Given the description of an element on the screen output the (x, y) to click on. 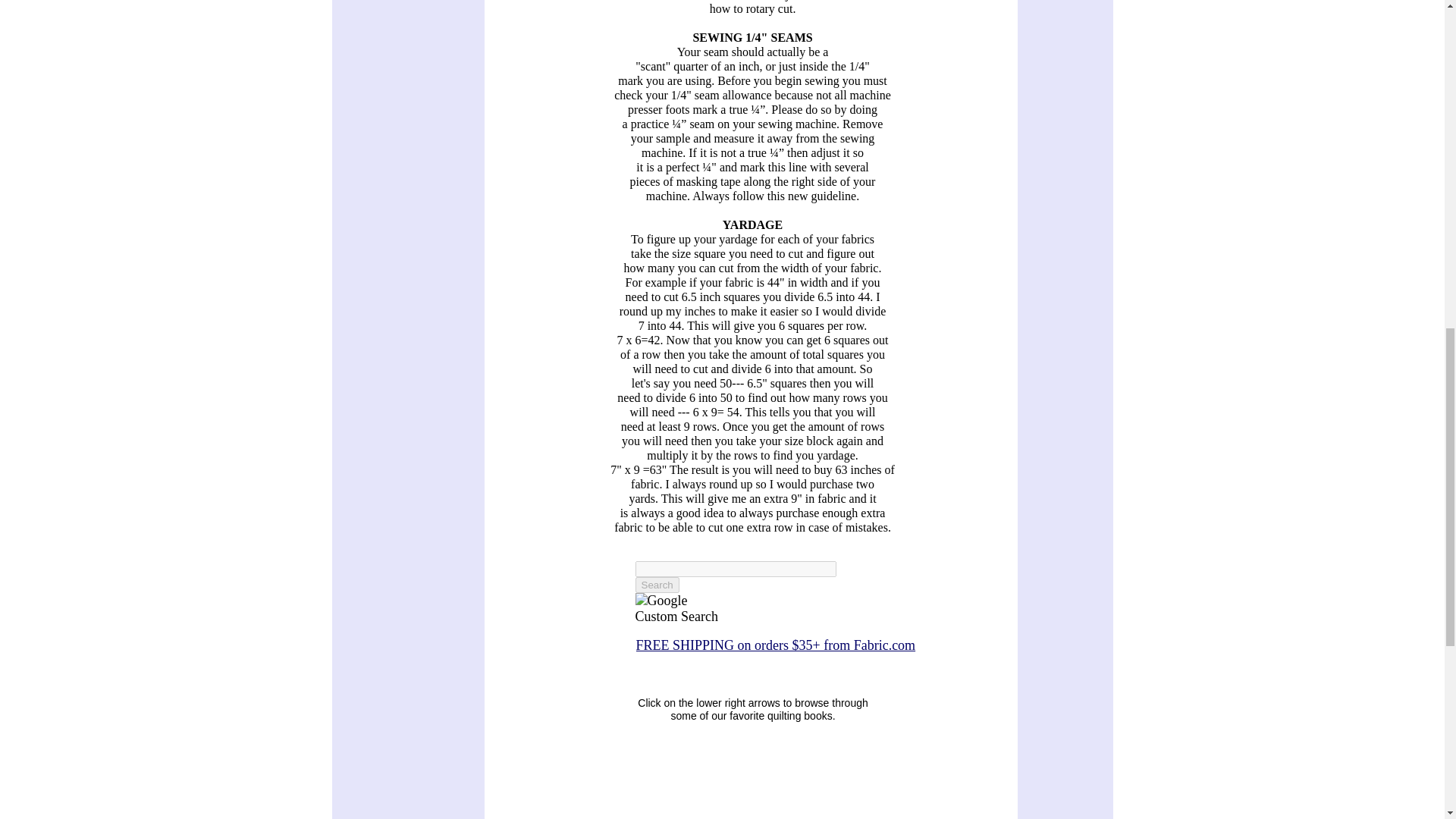
Search (656, 584)
Search (656, 584)
